Given the description of an element on the screen output the (x, y) to click on. 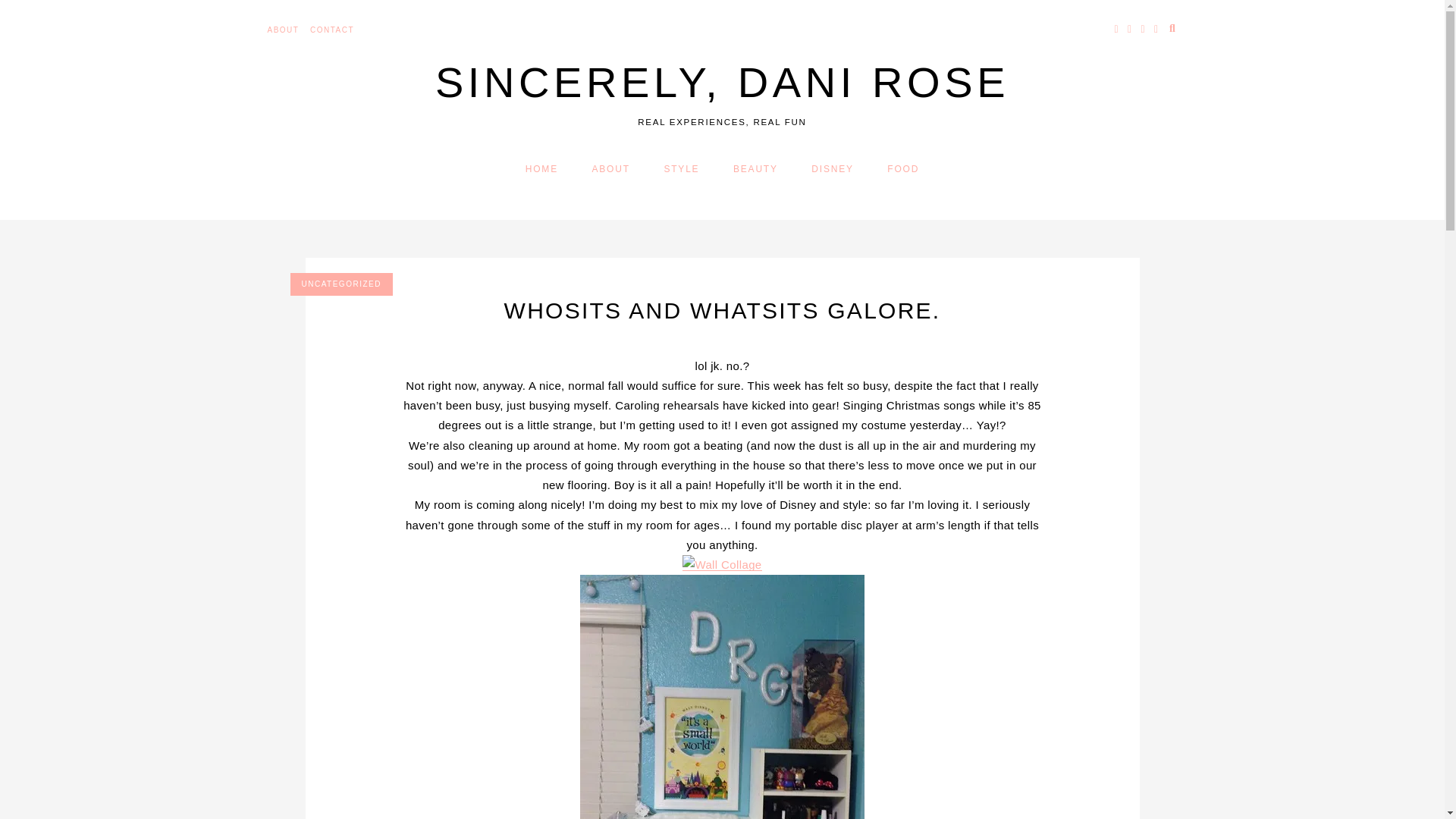
SINCERELY, DANI ROSE (722, 82)
ABOUT (282, 29)
FOOD (902, 168)
DISNEY (831, 168)
HOME (541, 168)
View all posts in Uncategorized (340, 283)
ABOUT (611, 168)
CONTACT (331, 29)
Wall Collage by sincerelydanirose, on Flickr (721, 563)
BEAUTY (755, 168)
UNCATEGORIZED (340, 283)
STYLE (680, 168)
